Given the description of an element on the screen output the (x, y) to click on. 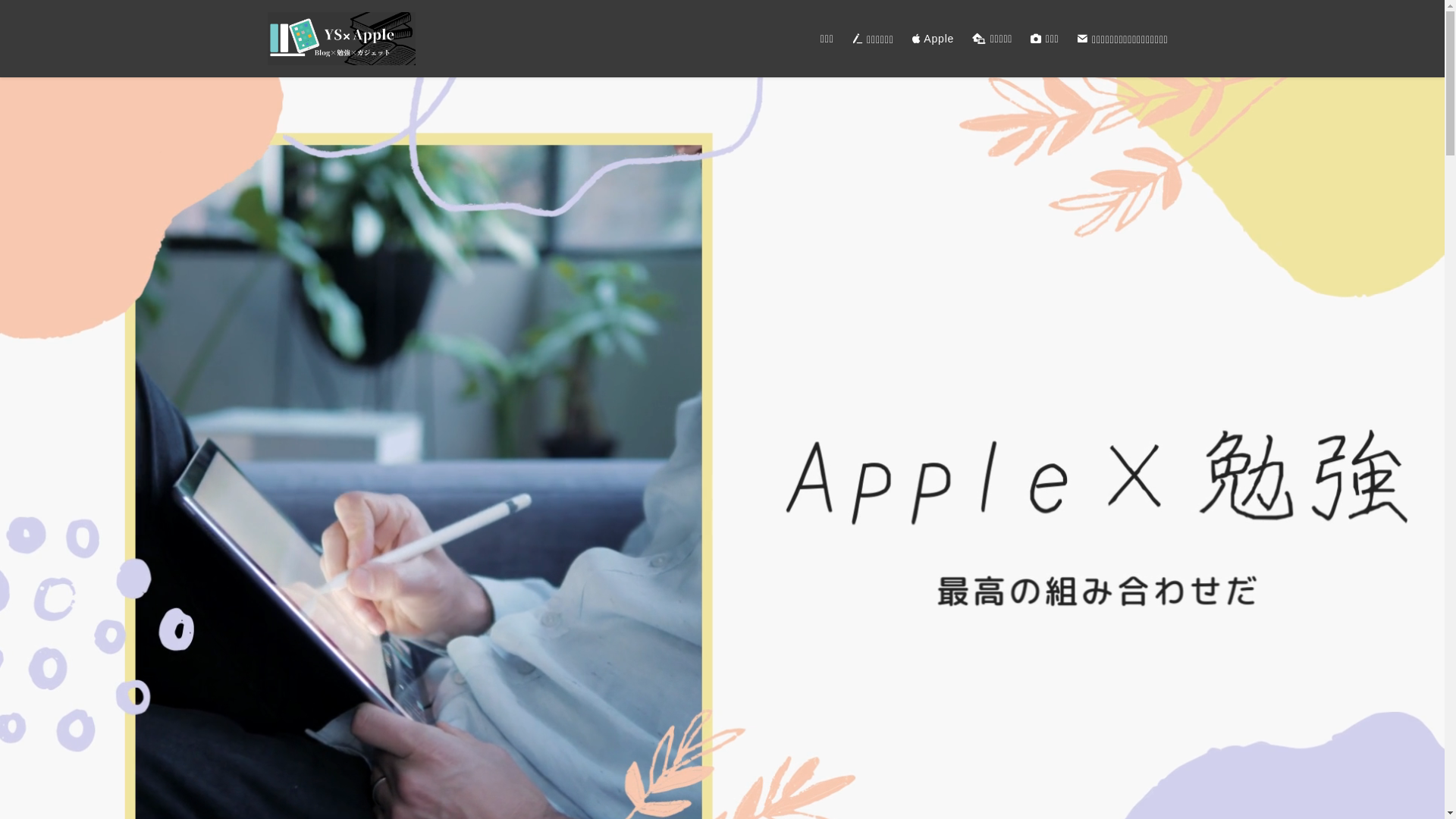
Apple Element type: text (933, 38)
search Element type: text (921, 421)
